Given the description of an element on the screen output the (x, y) to click on. 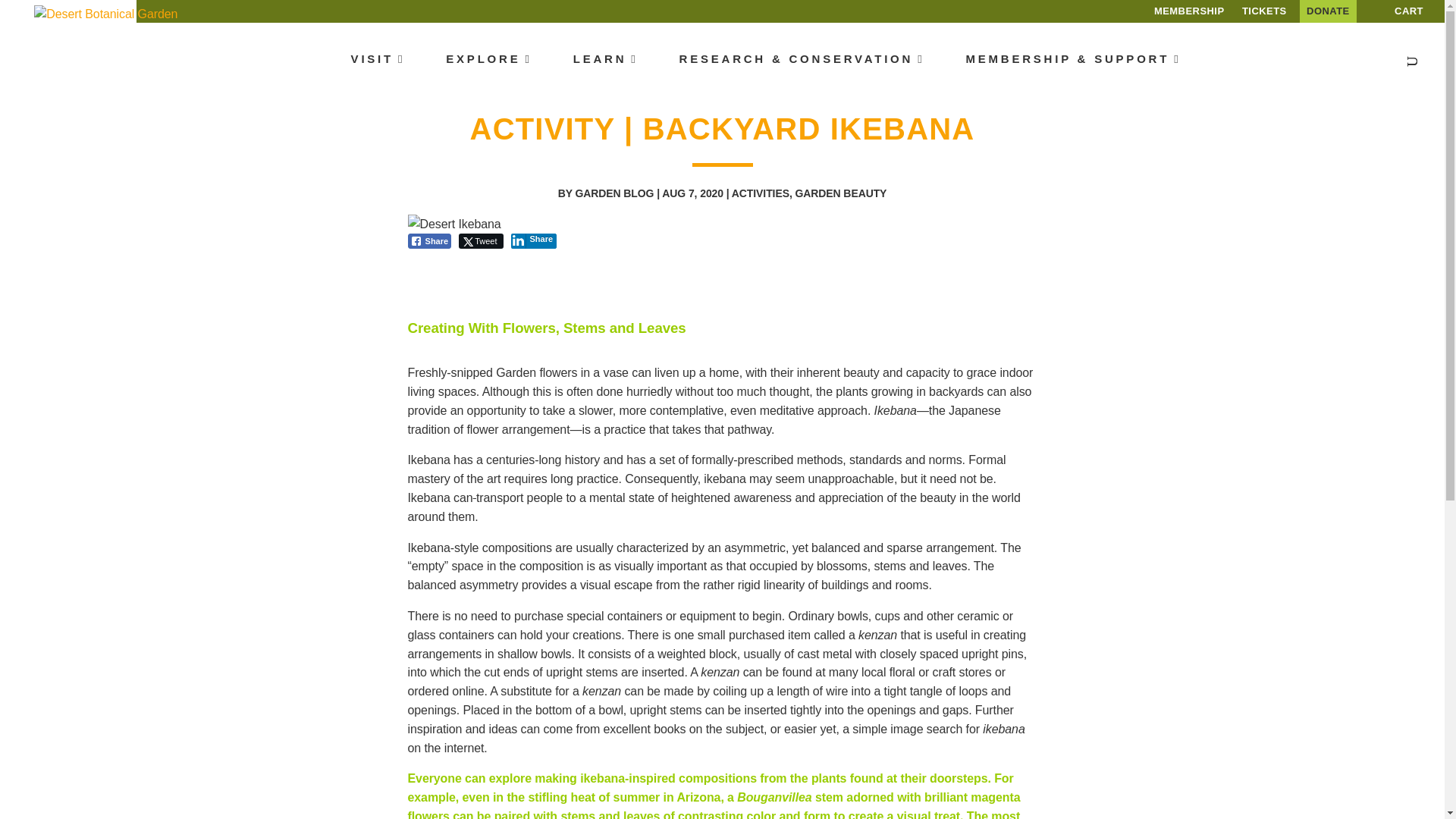
DONATE (1328, 11)
Posts by Garden Blog (614, 193)
EXPLORE (488, 59)
LEARN (606, 59)
VISIT (378, 59)
TICKETS (1264, 11)
CART (1398, 11)
MEMBERSHIP (1189, 11)
